Given the description of an element on the screen output the (x, y) to click on. 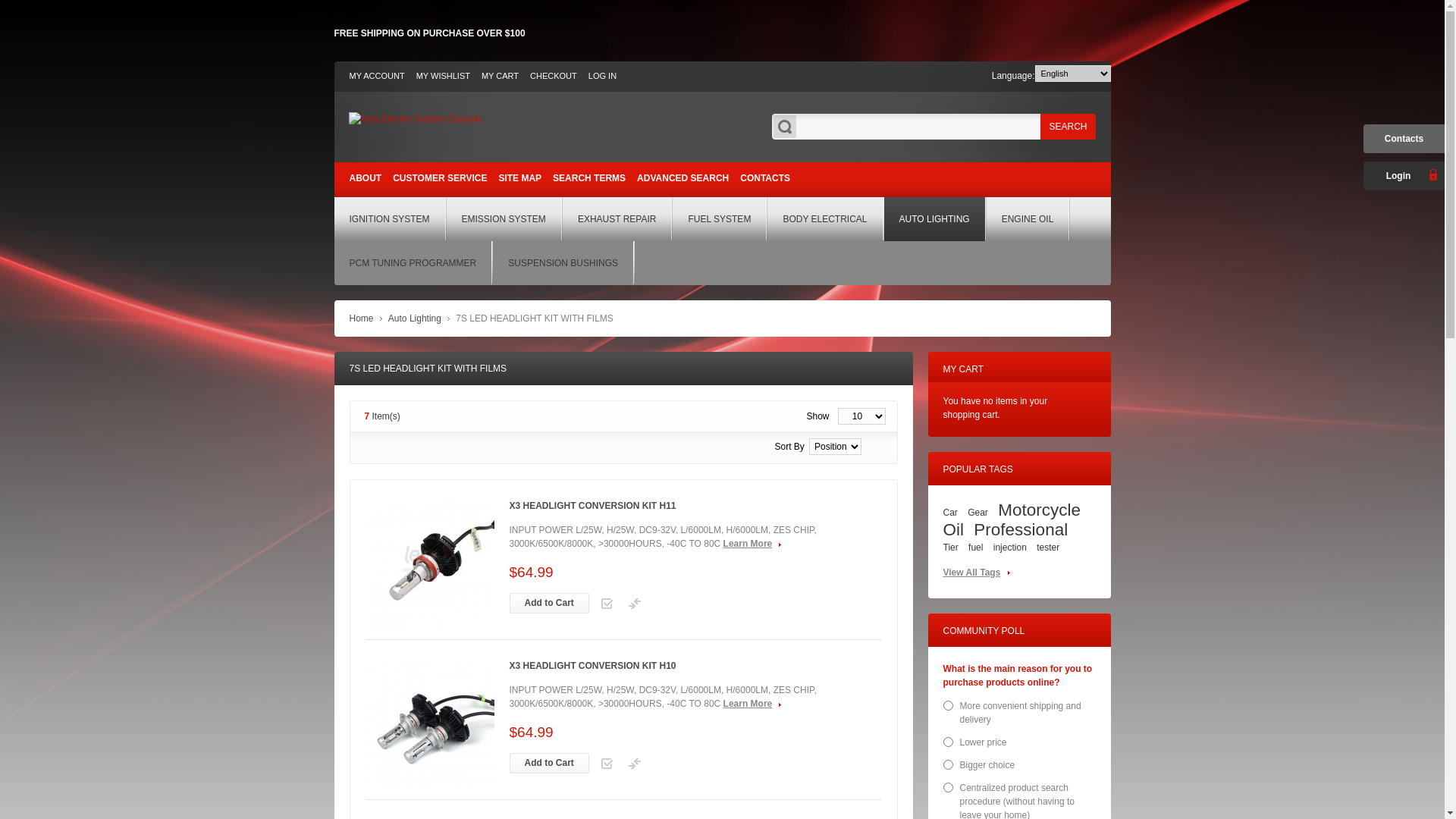
BODY ELECTRICAL Element type: text (824, 219)
Add to Cart Element type: text (549, 763)
View All Tags Element type: text (976, 572)
IGNITION SYSTEM Element type: text (388, 219)
Learn More Element type: text (752, 543)
SEARCH TERMS Element type: text (588, 177)
X3 HEADLIGHT CONVERSION KIT H11 Element type: hover (429, 564)
ABOUT Element type: text (364, 177)
Auto Lighting Element type: text (414, 318)
injection Element type: text (1009, 547)
ADVANCED SEARCH Element type: text (682, 177)
MY CART Element type: text (499, 75)
tester Element type: text (1047, 547)
X3 HEADLIGHT CONVERSION KIT H10 Element type: hover (429, 724)
SITE MAP Element type: text (519, 177)
FUEL SYSTEM Element type: text (718, 219)
ENGINE OIL Element type: text (1027, 219)
Gear Element type: text (977, 512)
MY WISHLIST Element type: text (443, 75)
Add to Cart Element type: text (549, 603)
EXHAUST REPAIR Element type: text (616, 219)
CONTACTS Element type: text (765, 177)
Professional Element type: text (1020, 529)
PCM TUNING PROGRAMMER Element type: text (412, 263)
Add to Compare Element type: text (634, 763)
Motorcycle Element type: text (1038, 509)
AUTO LIGHTING Element type: text (934, 219)
SUSPENSION BUSHINGS Element type: text (562, 263)
Tier Element type: text (950, 547)
Car Element type: text (950, 512)
SEARCH Element type: text (1067, 126)
CUSTOMER SERVICE Element type: text (439, 177)
EMISSION SYSTEM Element type: text (503, 219)
X3 HEADLIGHT CONVERSION KIT H10 Element type: text (592, 666)
Learn More Element type: text (752, 703)
LOG IN Element type: text (602, 75)
Add to Wishlist Element type: text (606, 603)
Add to Compare Element type: text (634, 603)
Home Element type: text (360, 318)
CHECKOUT Element type: text (553, 75)
Auto Electric Solution Canada Element type: hover (414, 118)
X3 HEADLIGHT CONVERSION KIT H11 Element type: text (592, 506)
fuel Element type: text (975, 547)
MY ACCOUNT Element type: text (376, 75)
Add to Wishlist Element type: text (606, 763)
Oil Element type: text (953, 529)
